Given the description of an element on the screen output the (x, y) to click on. 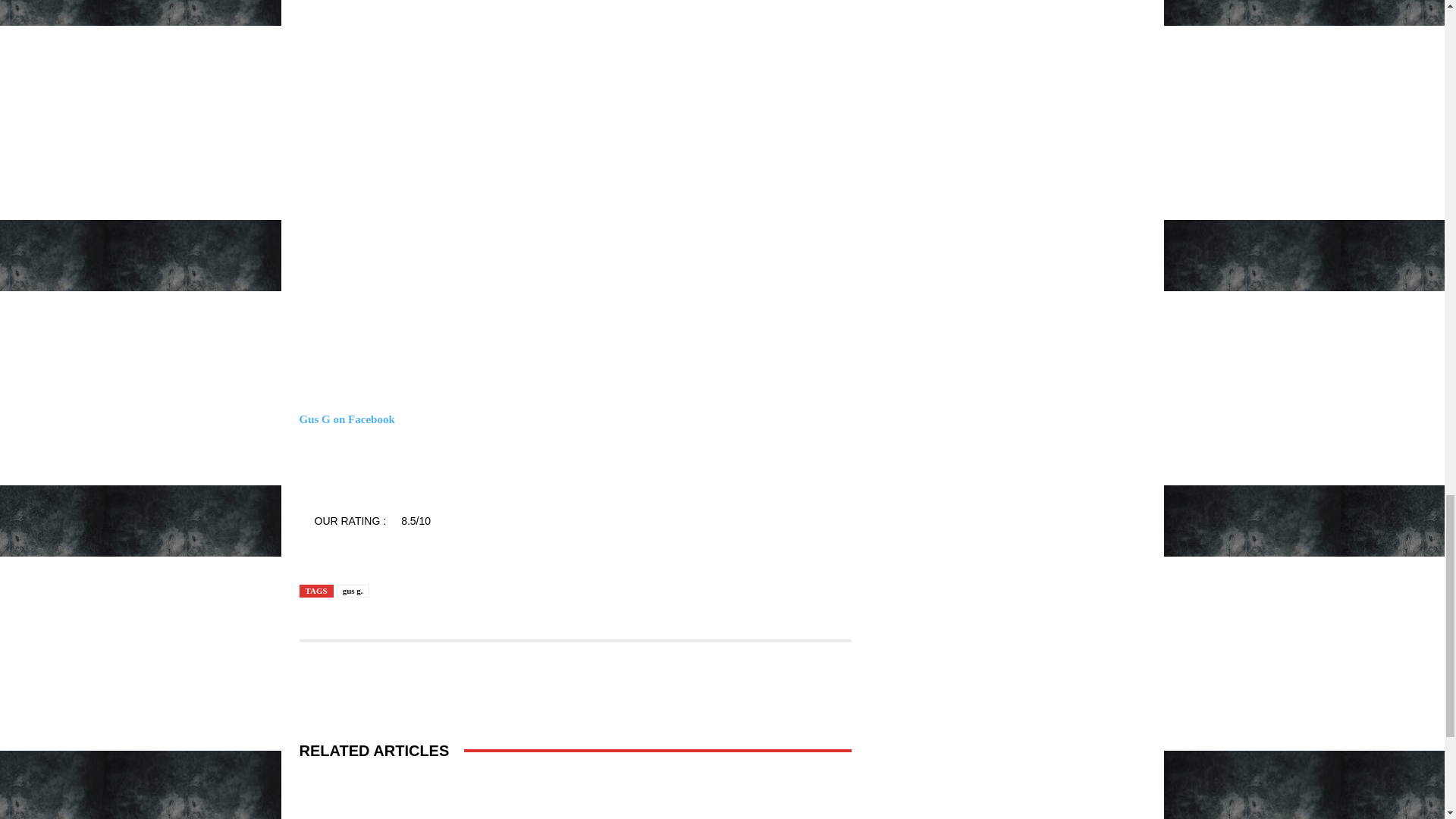
gus g. (352, 590)
Gus G on Facebook (346, 419)
